Given the description of an element on the screen output the (x, y) to click on. 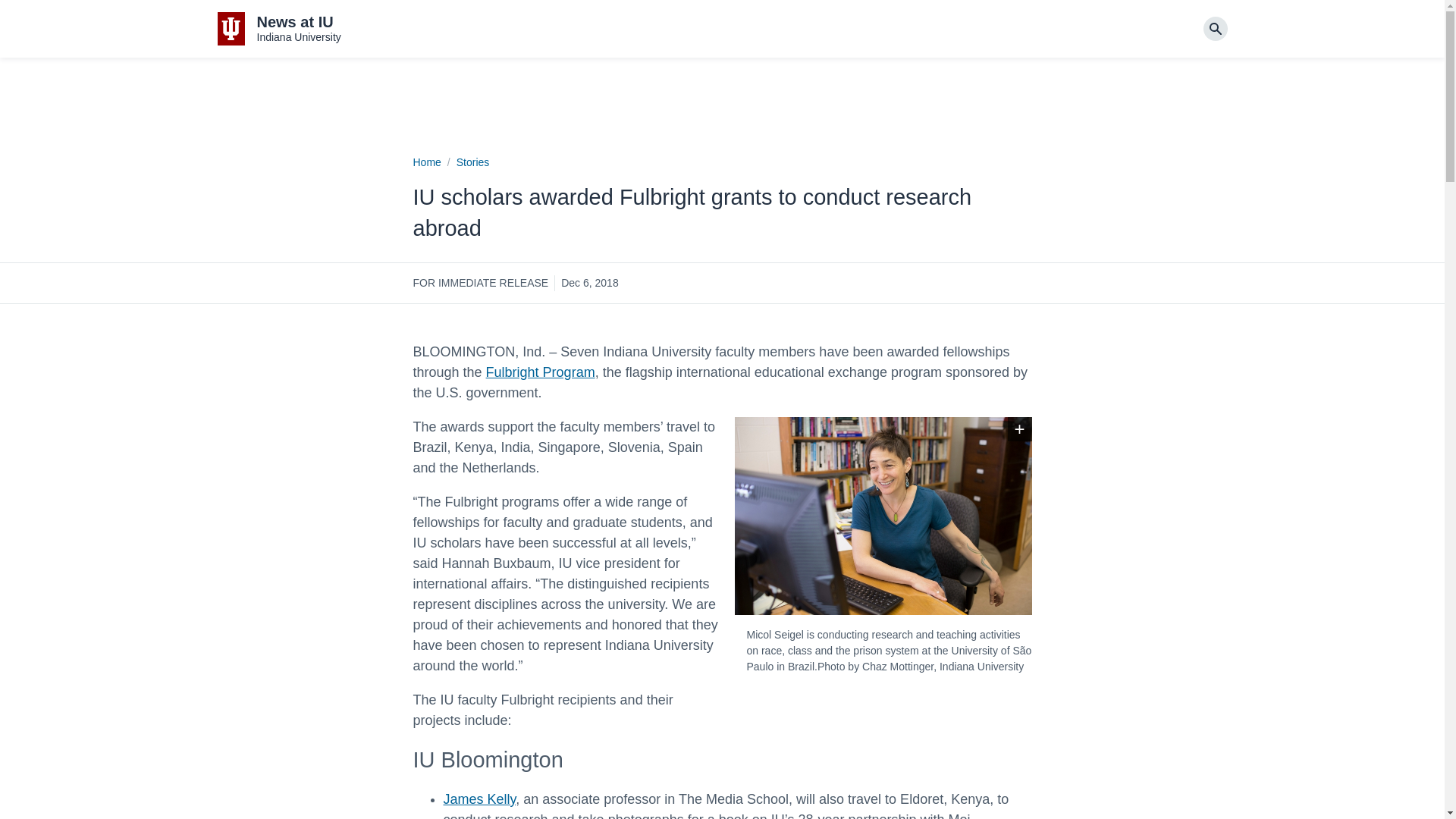
Image - 1:View print quality image about Micol Seigel (1018, 428)
Stories (473, 162)
Image - 1:View print quality image about Micol Seigel (1018, 428)
Search (1214, 28)
Home (426, 162)
James Kelly (478, 798)
Fulbright Program (540, 372)
